Given the description of an element on the screen output the (x, y) to click on. 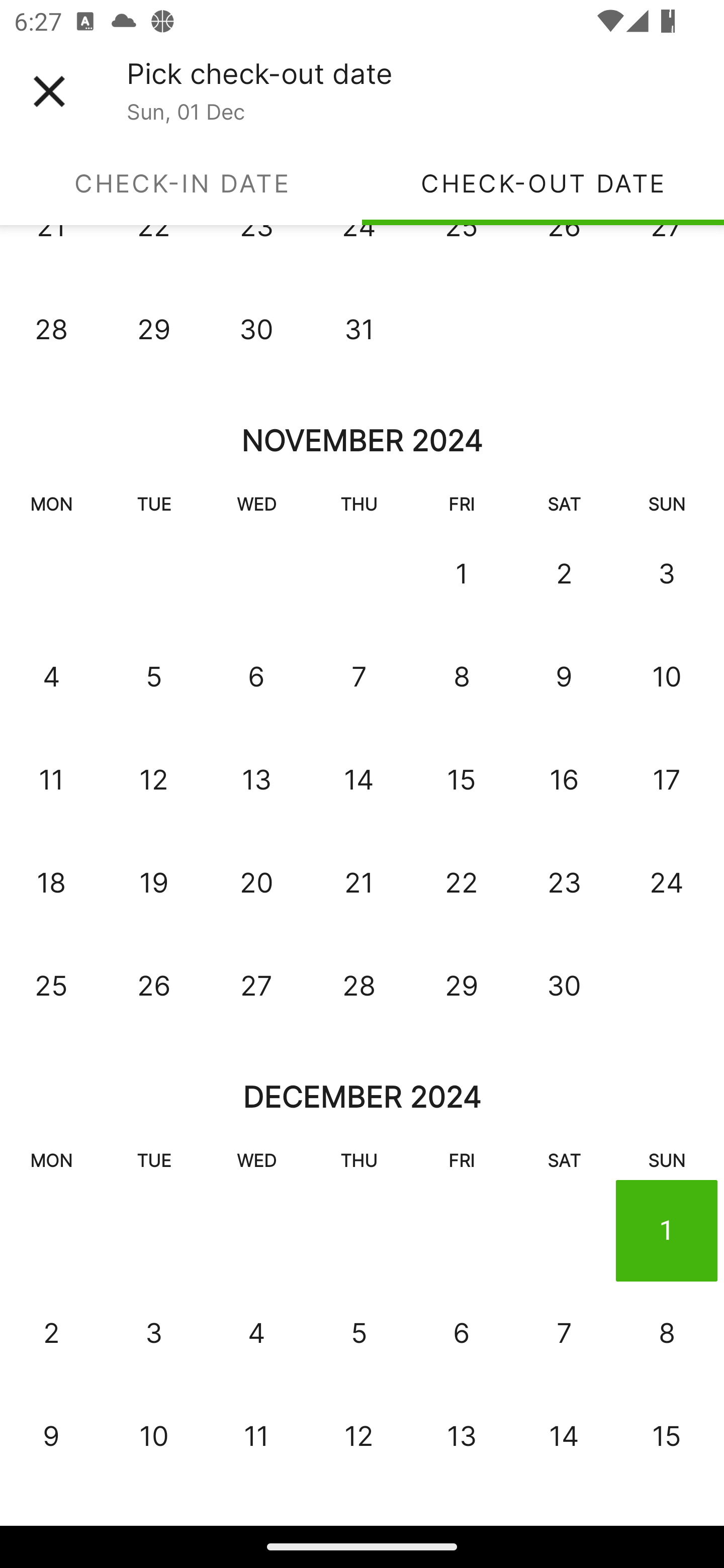
Check-in Date CHECK-IN DATE (181, 183)
